Given the description of an element on the screen output the (x, y) to click on. 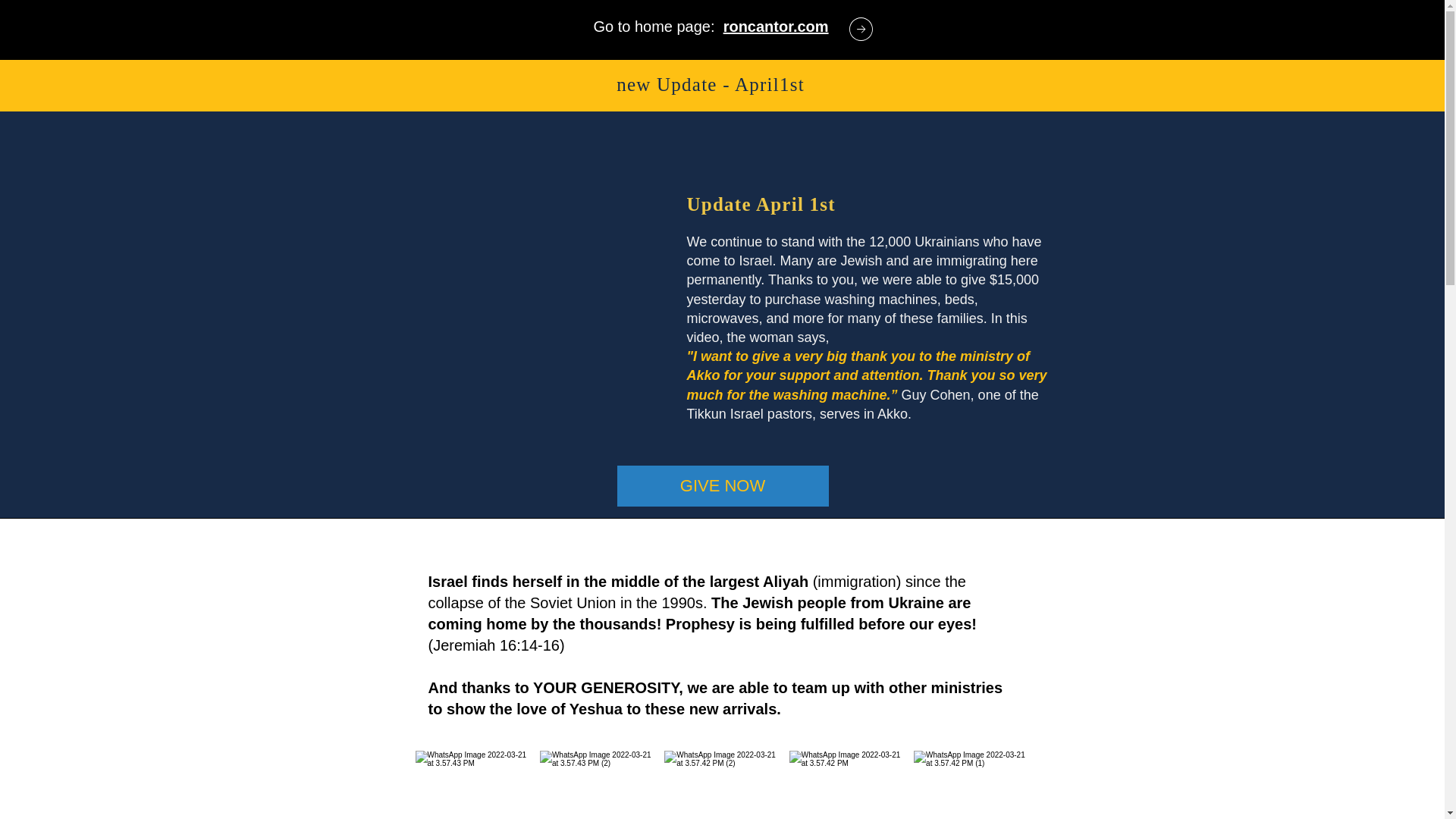
GIVE NOW (722, 486)
roncantor.com (775, 26)
GIVE NOW (710, 450)
